Given the description of an element on the screen output the (x, y) to click on. 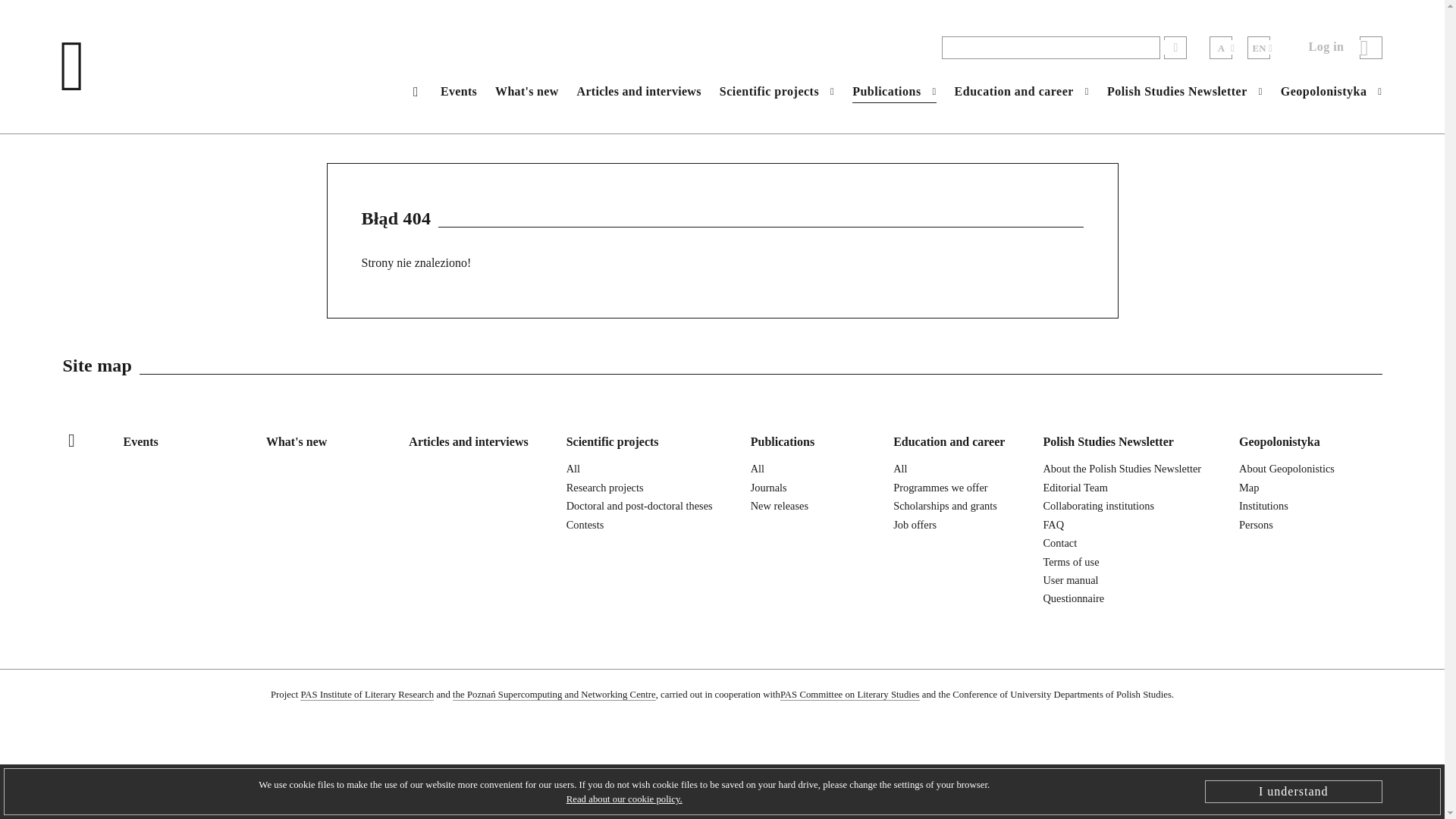
Log in (1344, 47)
What's new (526, 91)
Education and career (1022, 90)
Events (459, 91)
A (1220, 47)
Articles and interviews (638, 91)
Publications (893, 90)
EN (1258, 47)
Scientific projects (776, 90)
